Given the description of an element on the screen output the (x, y) to click on. 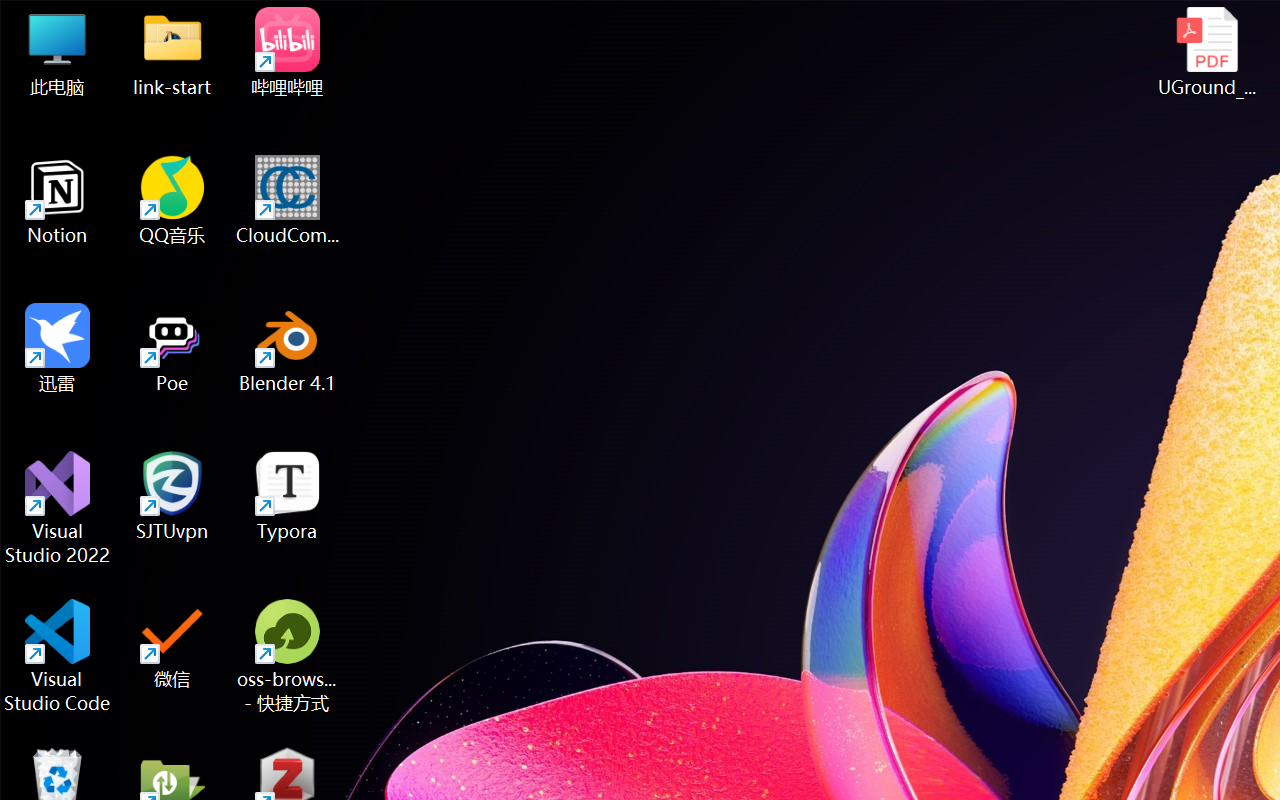
Visual Studio 2022 (57, 508)
CloudCompare (287, 200)
Blender 4.1 (287, 348)
Visual Studio Code (57, 656)
UGround_paper.pdf (1206, 52)
Typora (287, 496)
SJTUvpn (172, 496)
